Given the description of an element on the screen output the (x, y) to click on. 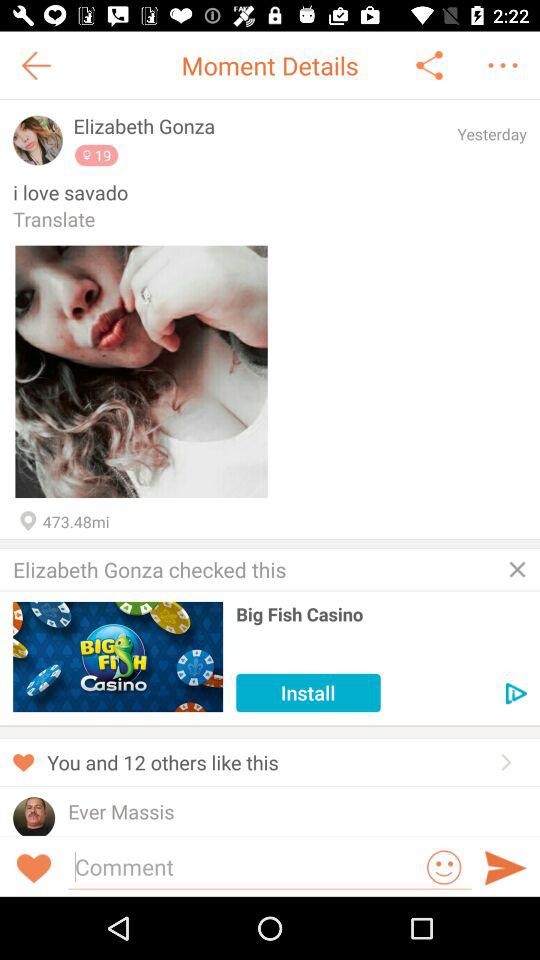
press big fish casino item (381, 613)
